Given the description of an element on the screen output the (x, y) to click on. 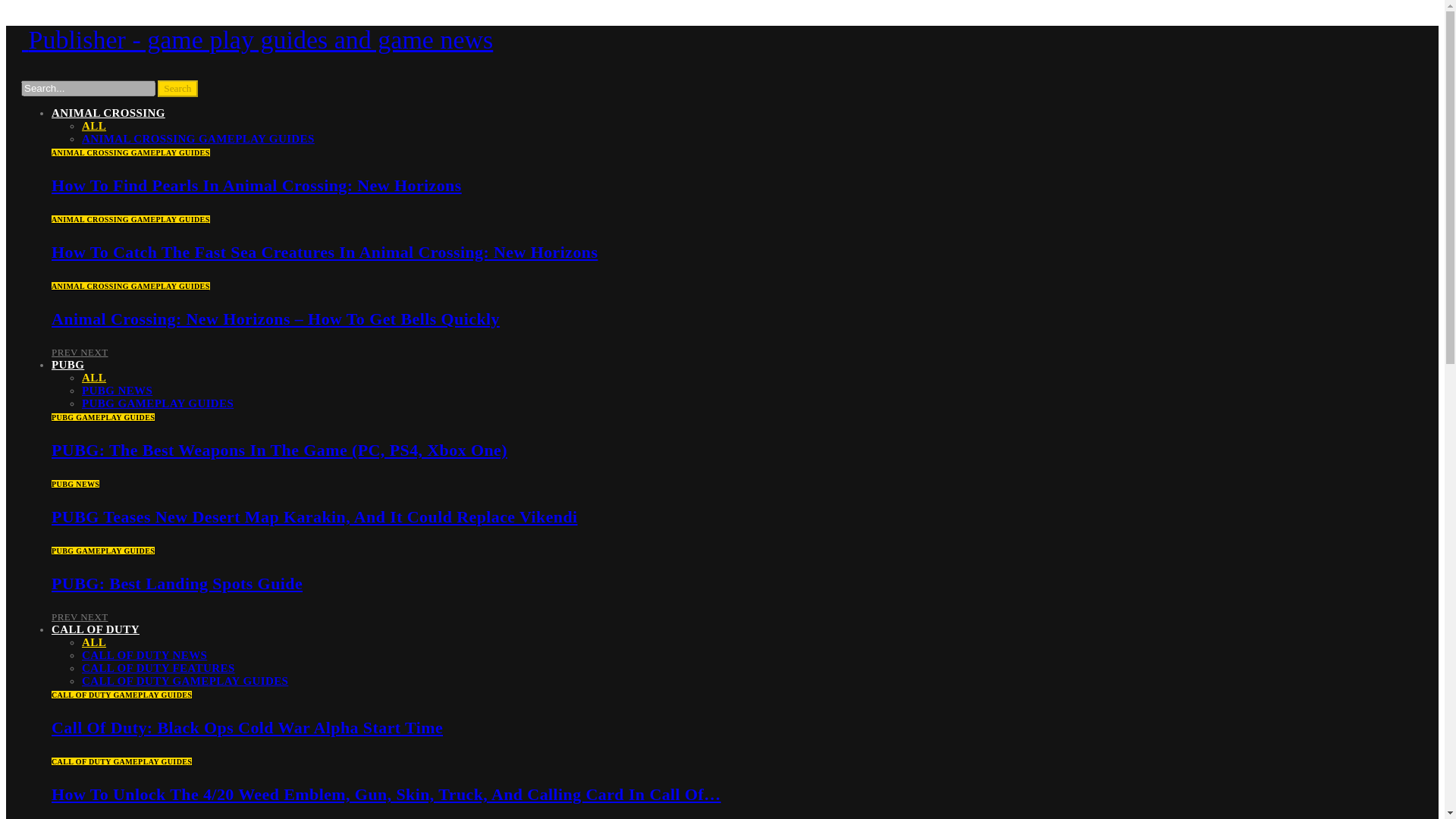
PUBG (67, 364)
Search (176, 88)
ALL (93, 377)
ALL (93, 642)
PUBG: Best Landing Spots Guide (176, 583)
CALL OF DUTY FEATURES (157, 667)
How To Find Pearls In Animal Crossing: New Horizons (255, 185)
ANIMAL CROSSING GAMEPLAY GUIDES (129, 285)
CALL OF DUTY GAMEPLAY GUIDES (121, 695)
CALL OF DUTY GAMEPLAY GUIDES (184, 680)
Call Of Duty: Black Ops Cold War Alpha Start Time (246, 727)
Search for: (88, 88)
CALL OF DUTY GAMEPLAY GUIDES (121, 761)
Previous (65, 616)
